Given the description of an element on the screen output the (x, y) to click on. 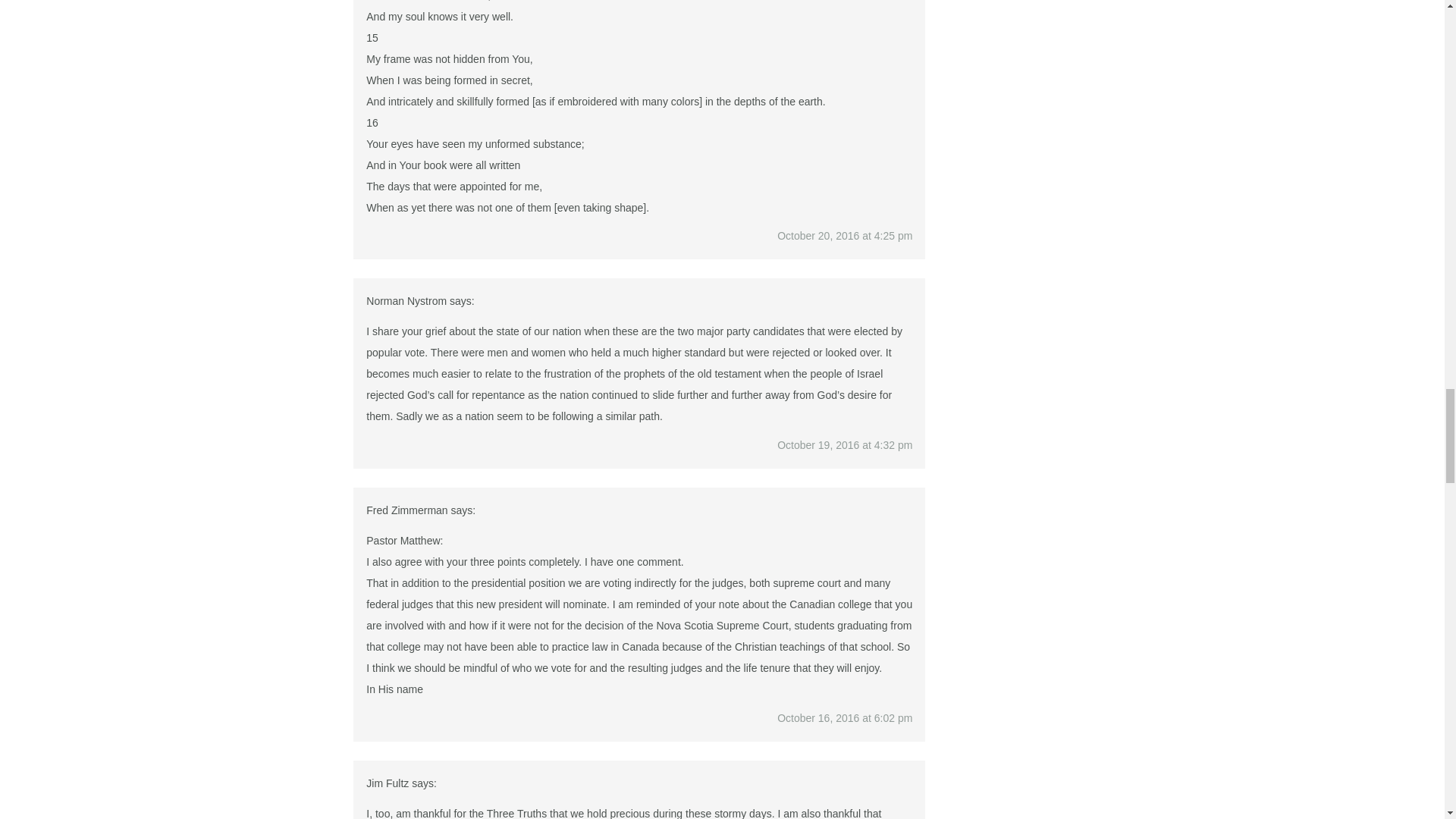
October 19, 2016 at 4:32 pm (844, 444)
October 20, 2016 at 4:25 pm (844, 235)
October 16, 2016 at 6:02 pm (844, 717)
